Given the description of an element on the screen output the (x, y) to click on. 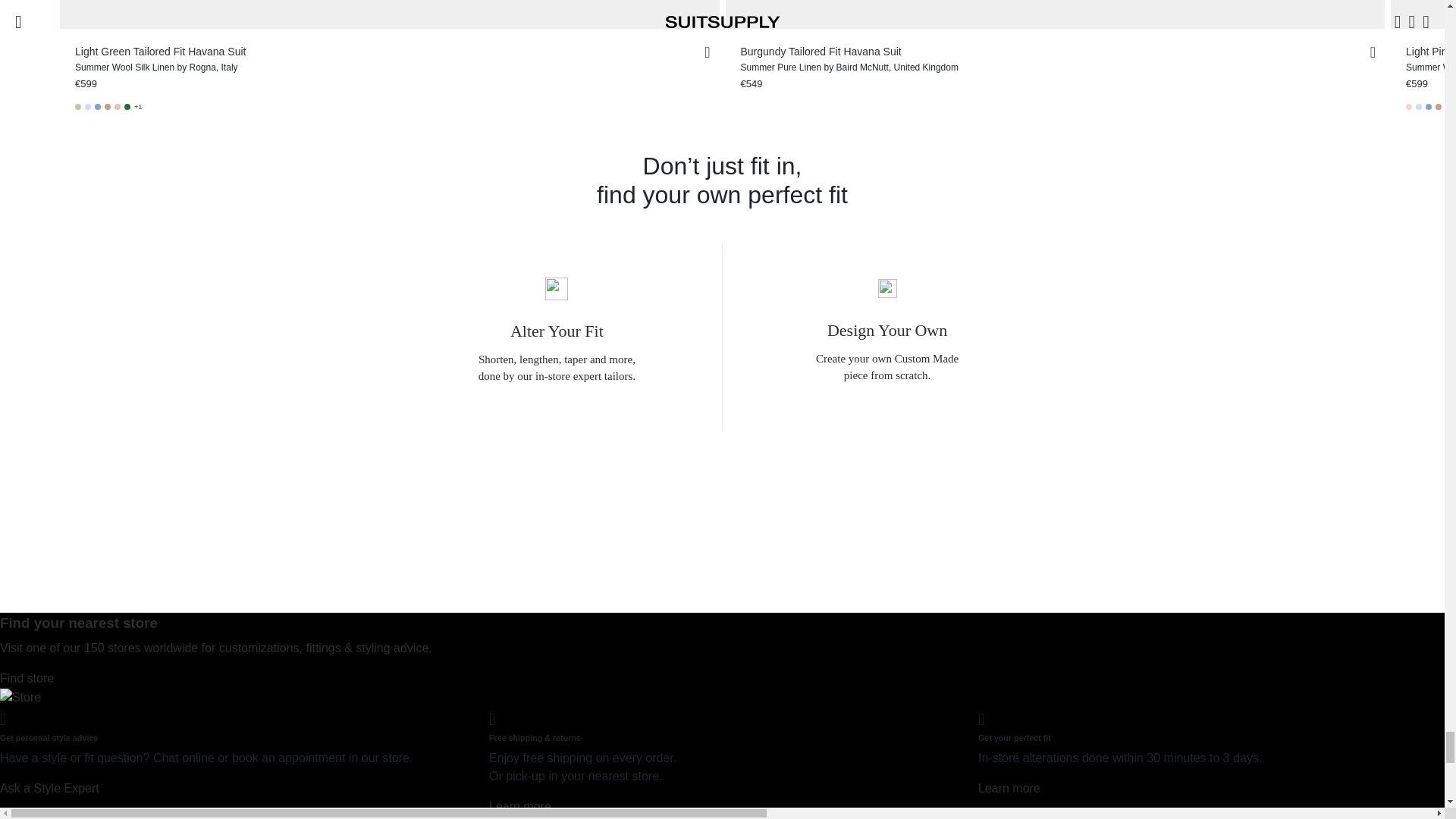
Get your perfect fit (1009, 788)
Fast, free shipping (520, 806)
Ask a Style Expert (49, 788)
